Given the description of an element on the screen output the (x, y) to click on. 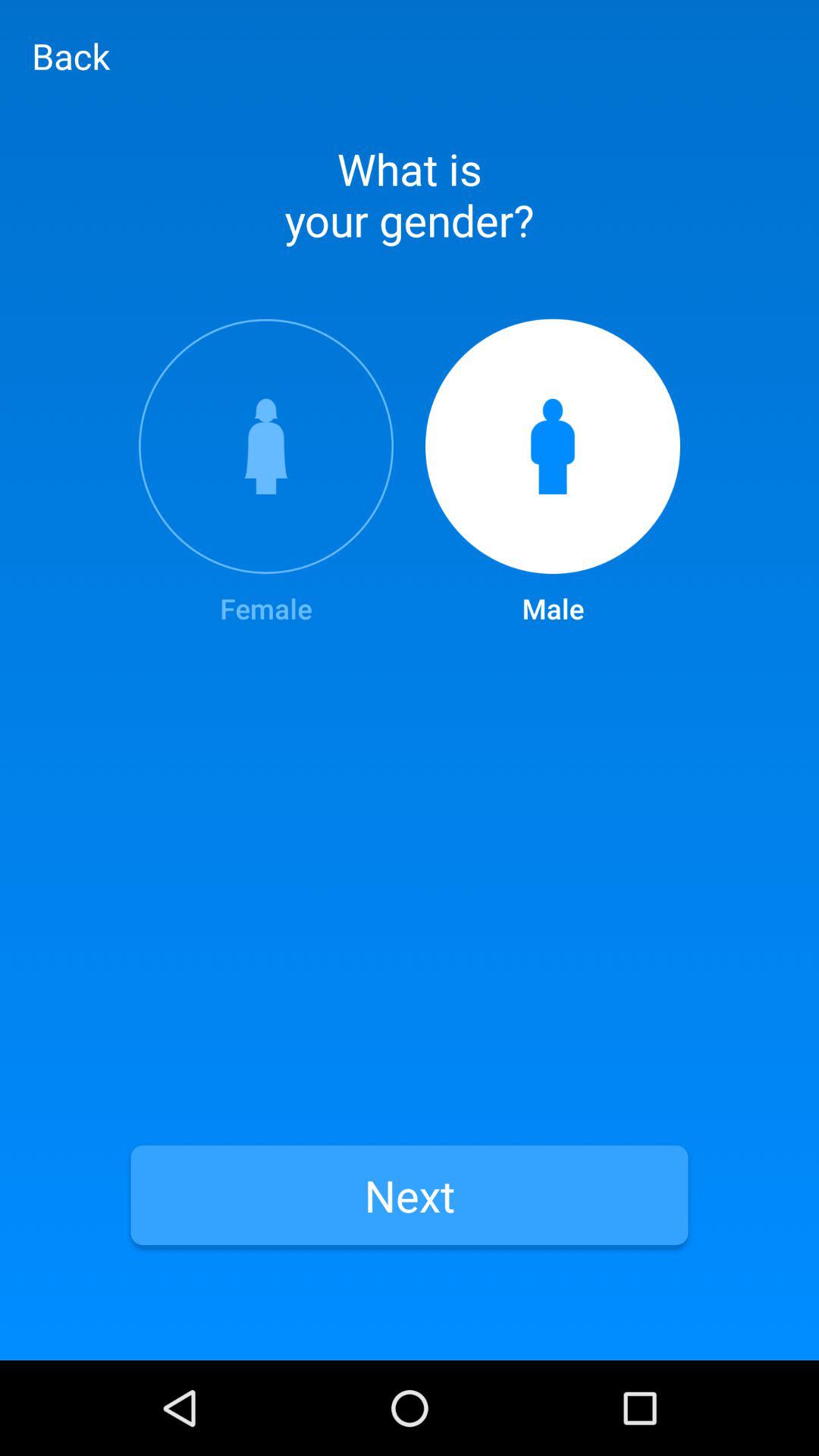
click item below what is your icon (265, 473)
